Given the description of an element on the screen output the (x, y) to click on. 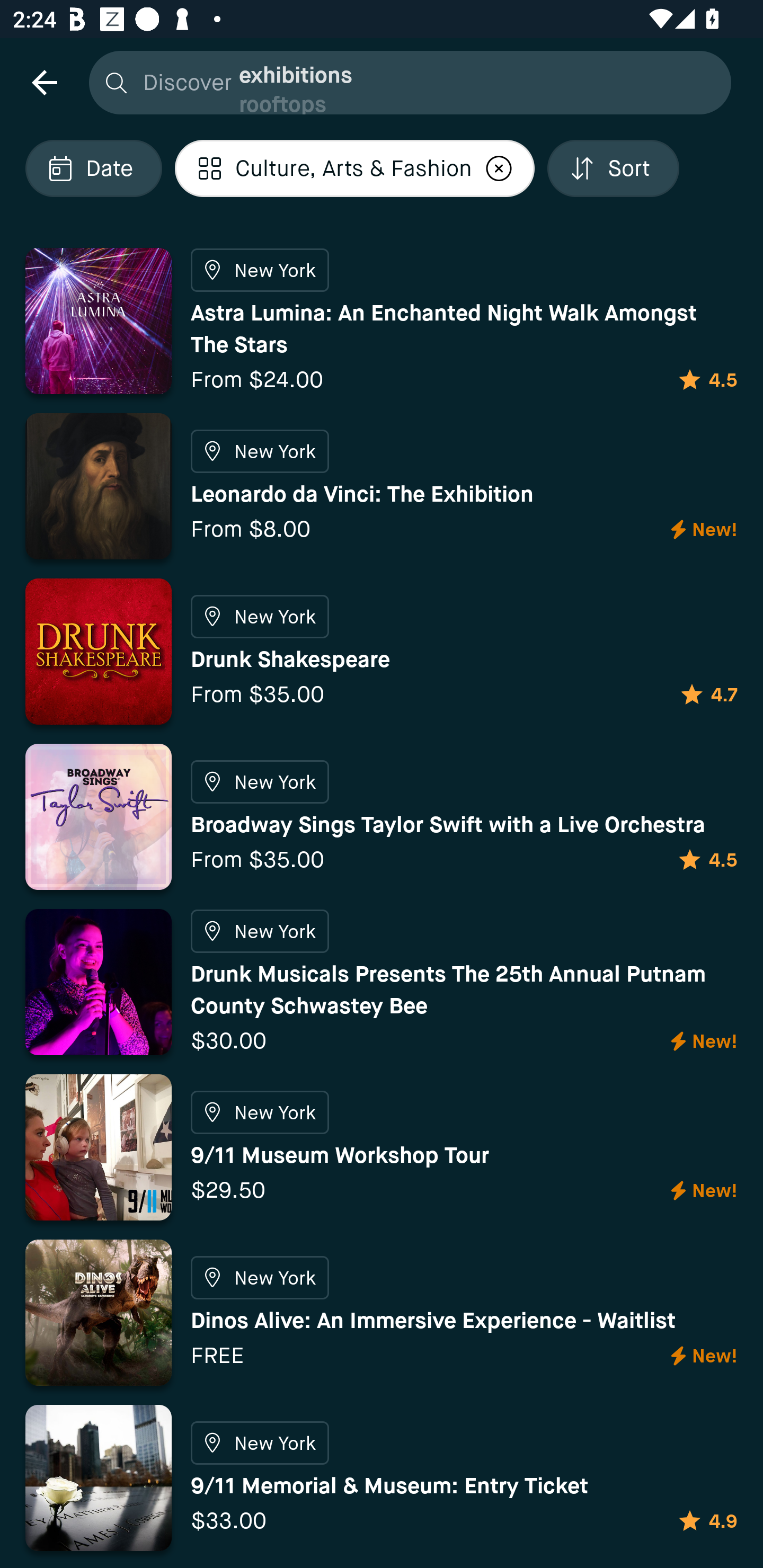
navigation icon (44, 81)
Discover exhibitions (405, 81)
Localized description Date (93, 168)
Localized description (498, 168)
Localized description Sort (613, 168)
